Given the description of an element on the screen output the (x, y) to click on. 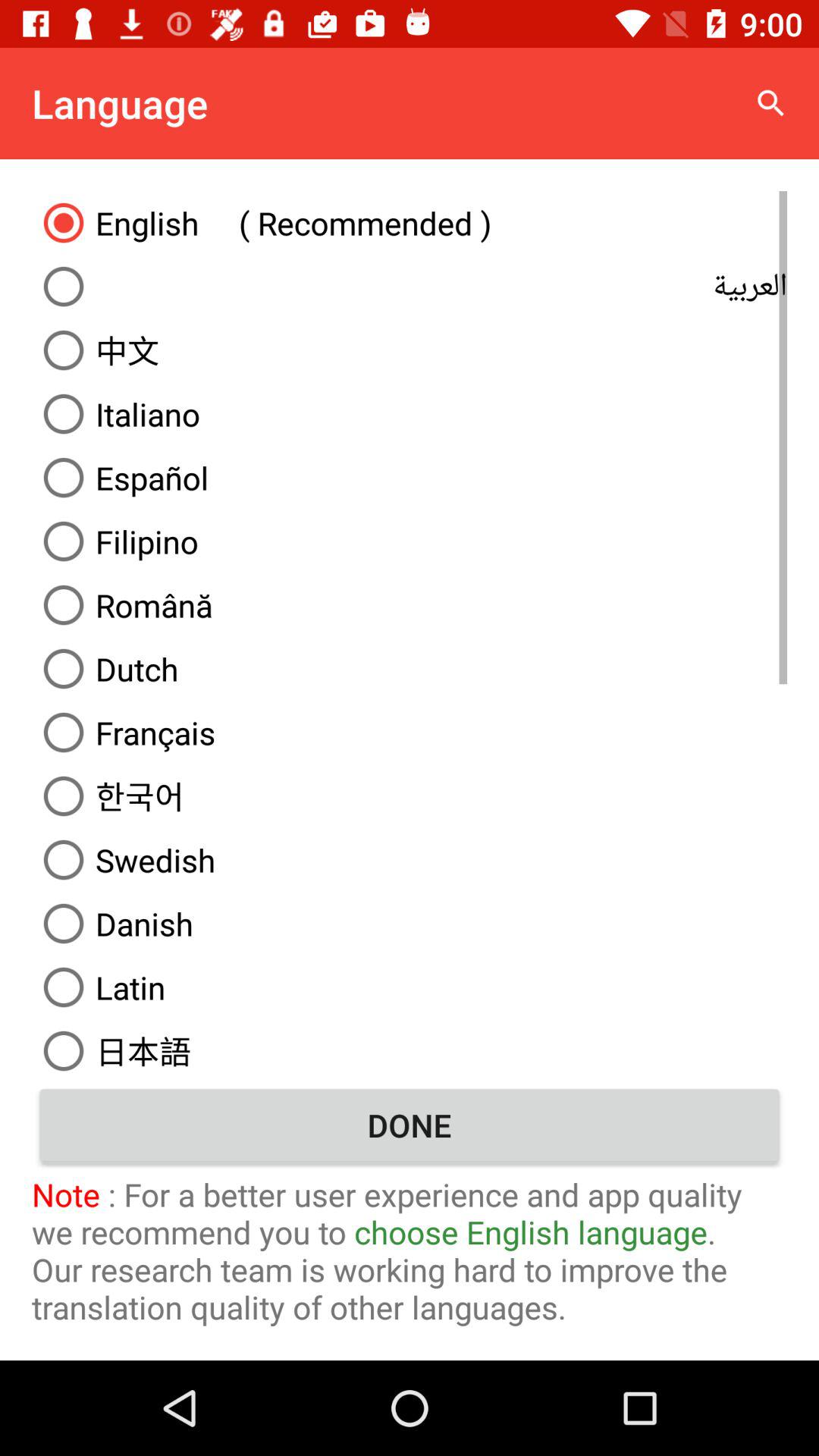
swipe to the filipino icon (409, 541)
